Given the description of an element on the screen output the (x, y) to click on. 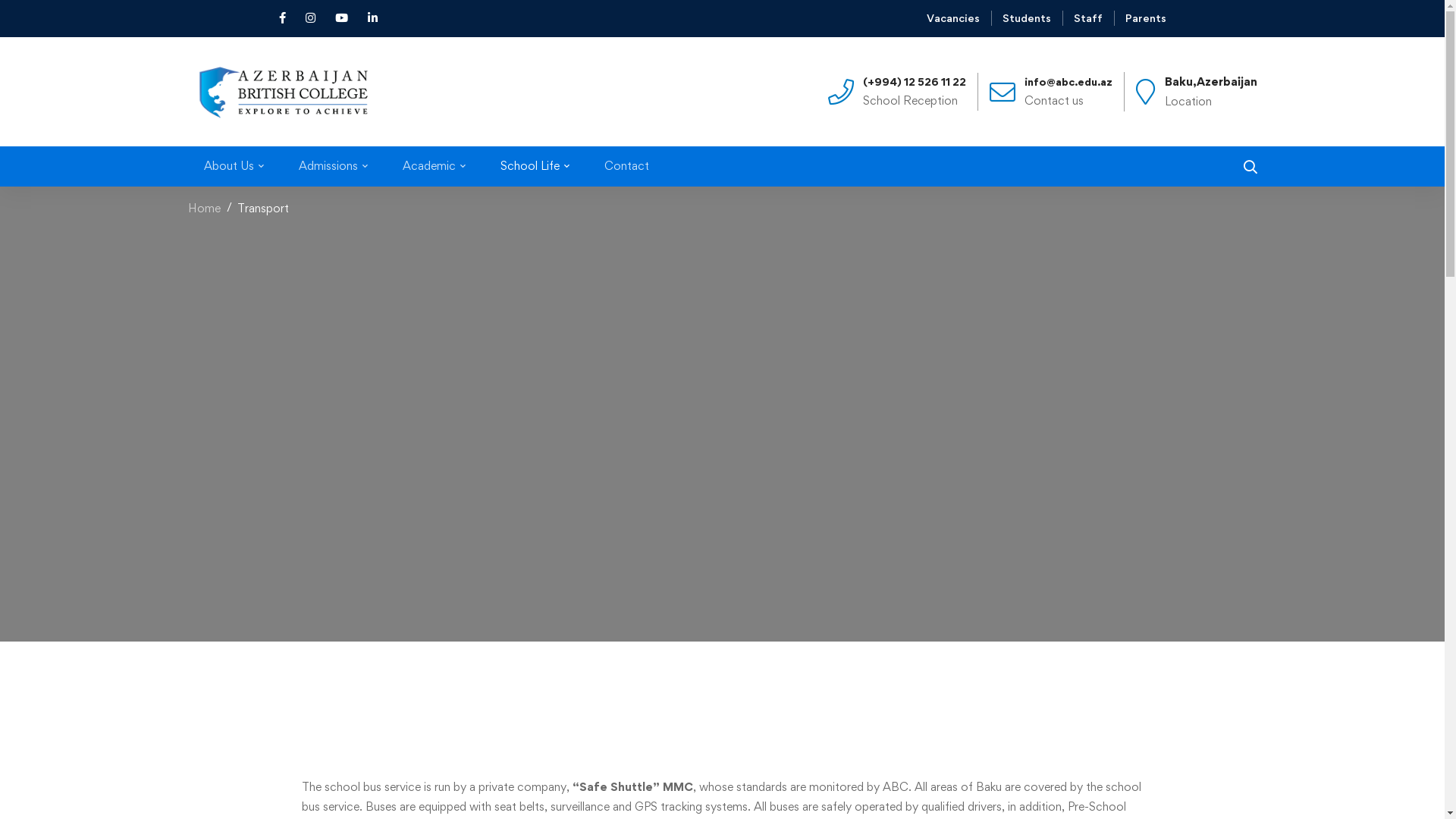
About Us Element type: text (233, 165)
Contact Element type: text (626, 165)
Admissions Element type: text (332, 165)
Staff Element type: text (1087, 17)
Home Element type: text (204, 207)
Parents Element type: text (1145, 17)
Academic Element type: text (433, 165)
(+994) 12 526 11 22 Element type: text (914, 81)
info@abc.edu.az Element type: text (1067, 81)
Vacancies Element type: text (952, 17)
School Life Element type: text (533, 165)
Students Element type: text (1026, 17)
